Given the description of an element on the screen output the (x, y) to click on. 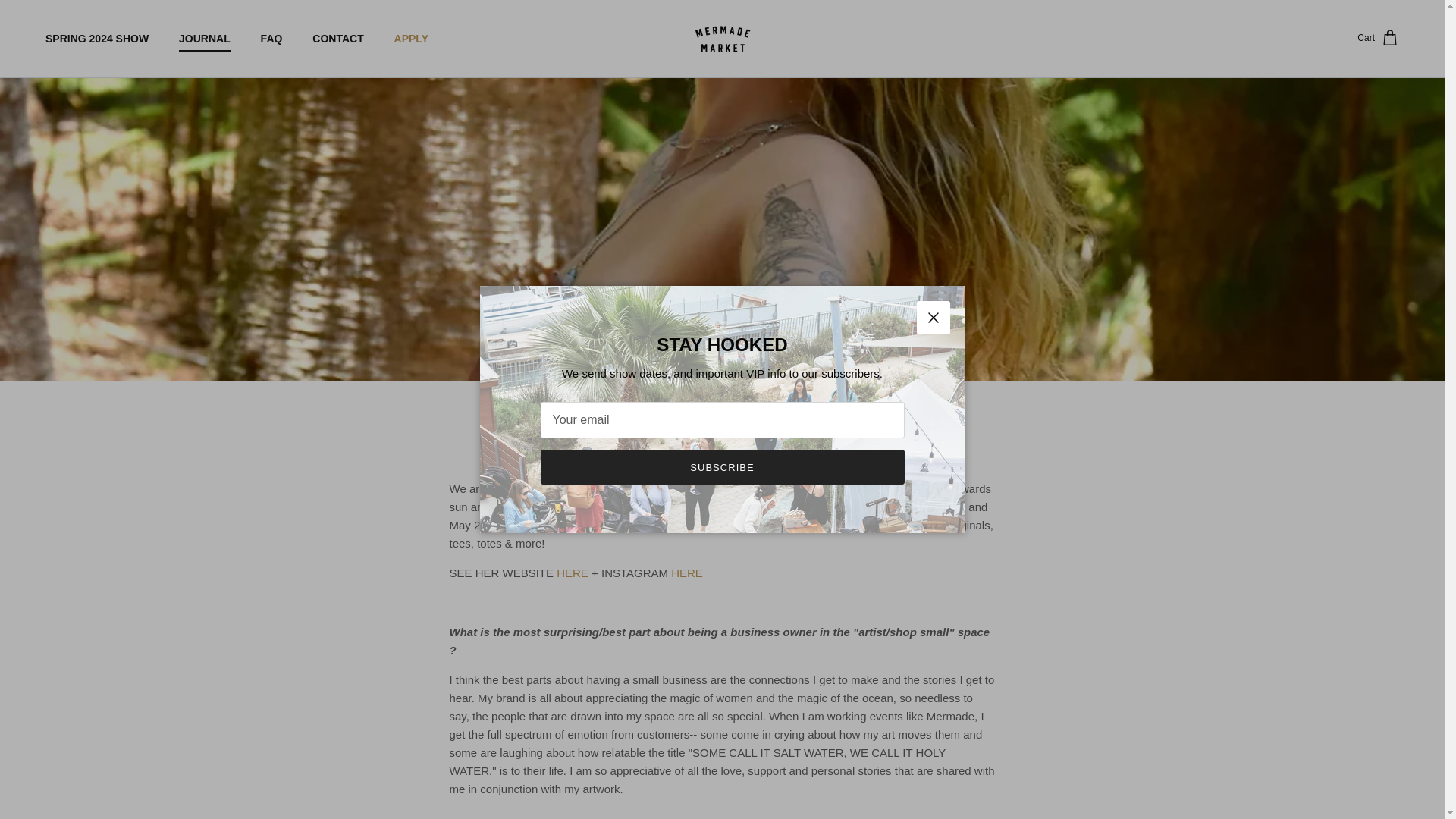
FAQ (272, 38)
CONTACT (337, 38)
Cart (1377, 38)
HERE (687, 572)
SPRING 2024 SHOW (96, 38)
JOURNAL (204, 38)
Mermade Market (721, 38)
APPLY (411, 38)
HERE (570, 572)
